Given the description of an element on the screen output the (x, y) to click on. 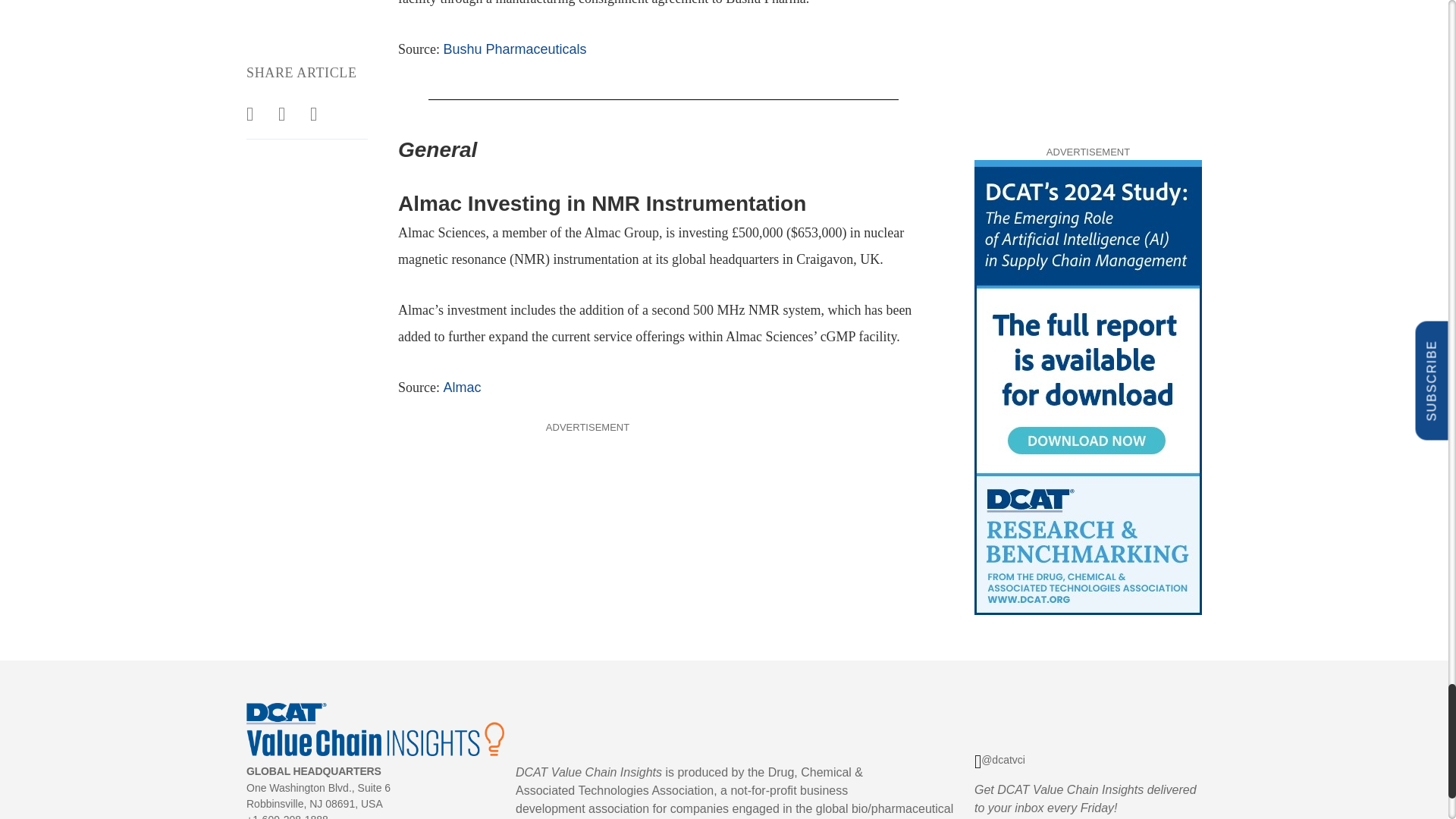
Bushu Pharmaceuticals (514, 48)
Almac (461, 387)
